Given the description of an element on the screen output the (x, y) to click on. 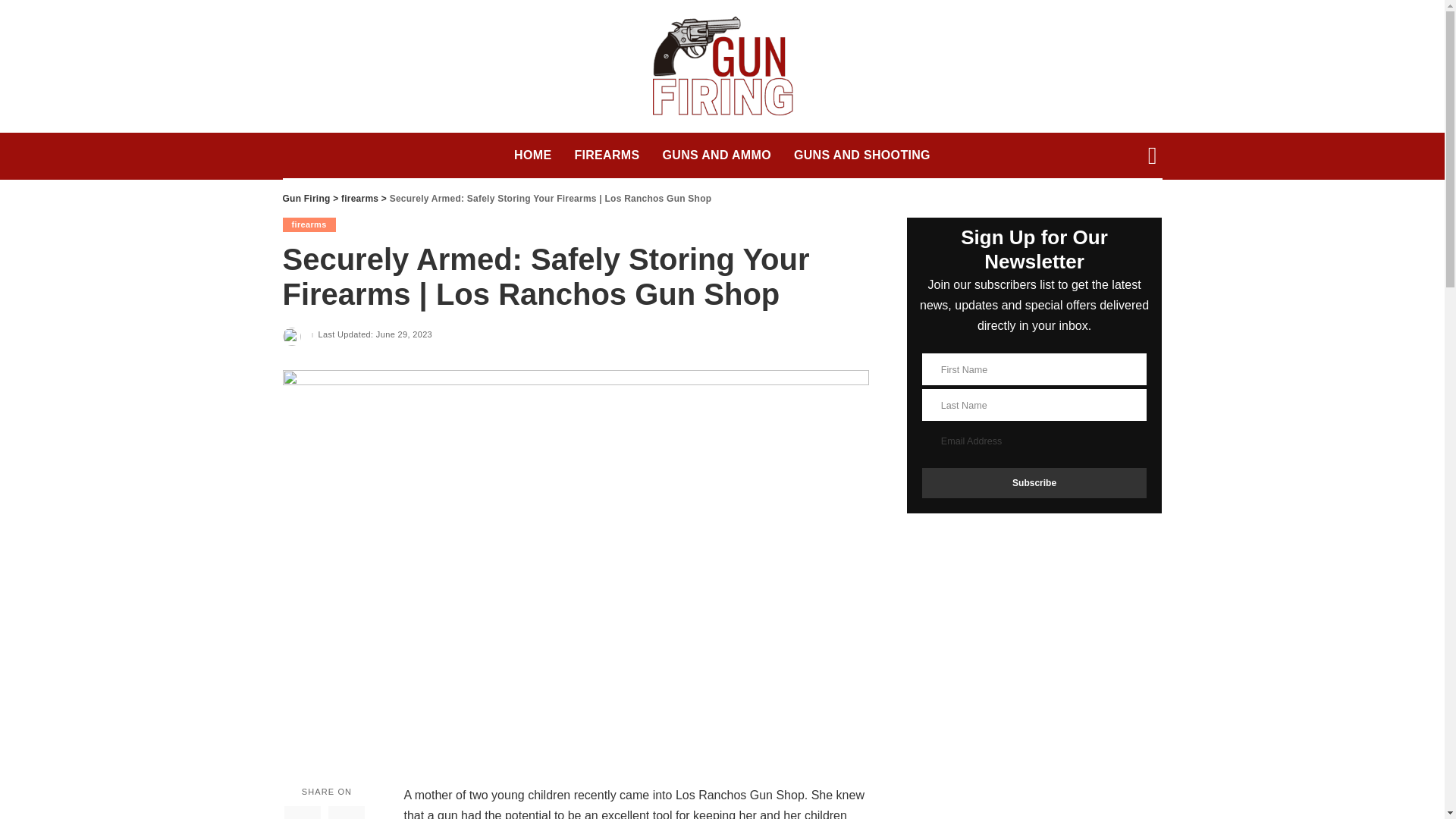
FIREARMS (606, 155)
Gun Firing (721, 66)
Subscribe (1034, 482)
Go to the firearms Category archives. (359, 198)
firearms (308, 224)
Gun Firing (306, 198)
Search (1140, 12)
HOME (532, 155)
Search (1140, 211)
Go to Gun Firing. (306, 198)
